Given the description of an element on the screen output the (x, y) to click on. 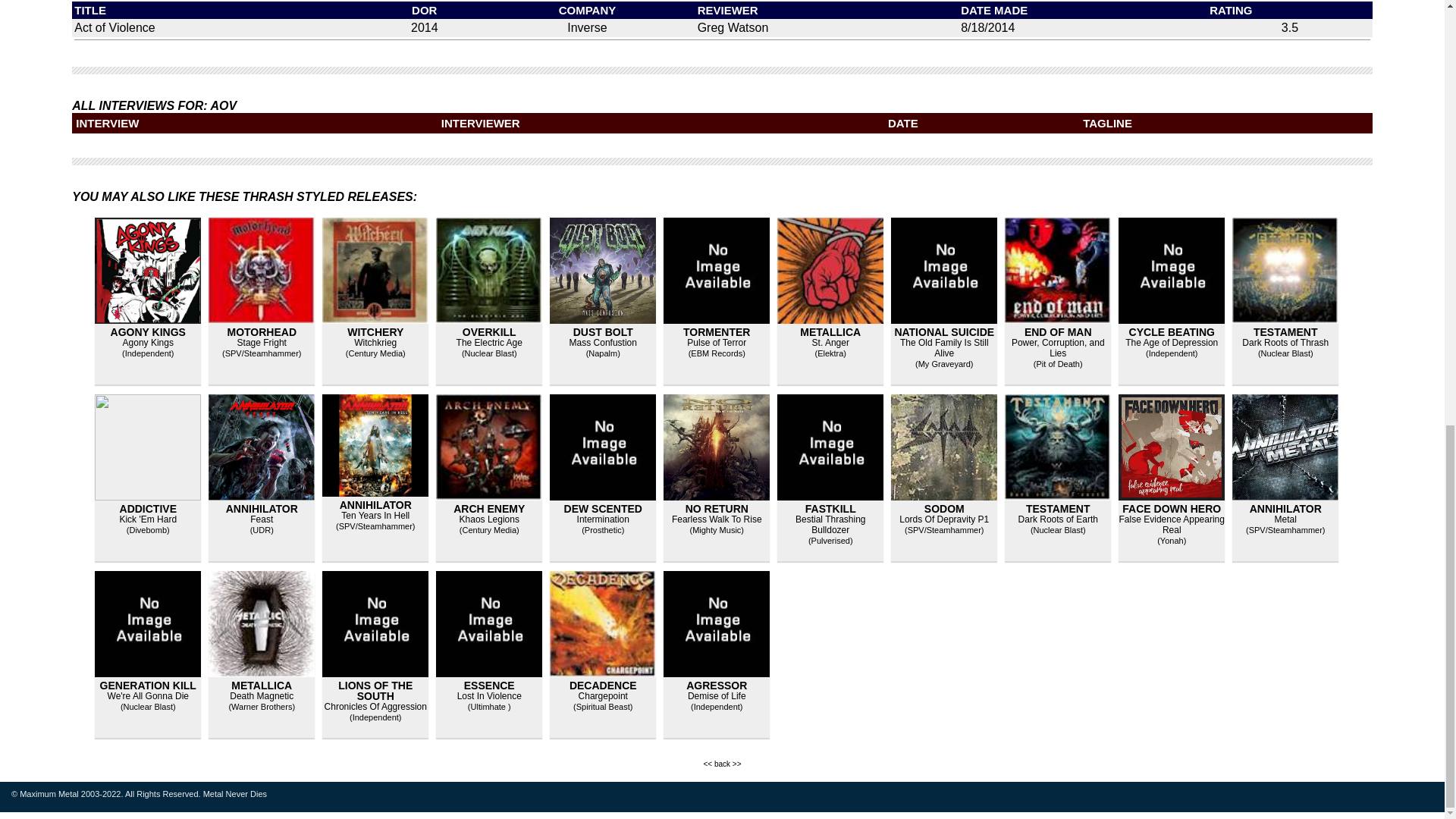
Witchkrieg (374, 342)
MOTORHEAD (262, 331)
The Electric Age (489, 342)
AGONY KINGS (148, 331)
Stage Fright (261, 342)
WITCHERY (375, 331)
END OF MAN (1058, 331)
DUST BOLT (603, 331)
METALLICA (829, 331)
NATIONAL SUICIDE (943, 331)
St. Anger (830, 342)
Act of Violence (114, 27)
Mass Confustion (603, 342)
TORMENTER (715, 331)
Power, Corruption, and Lies (1058, 347)
